Given the description of an element on the screen output the (x, y) to click on. 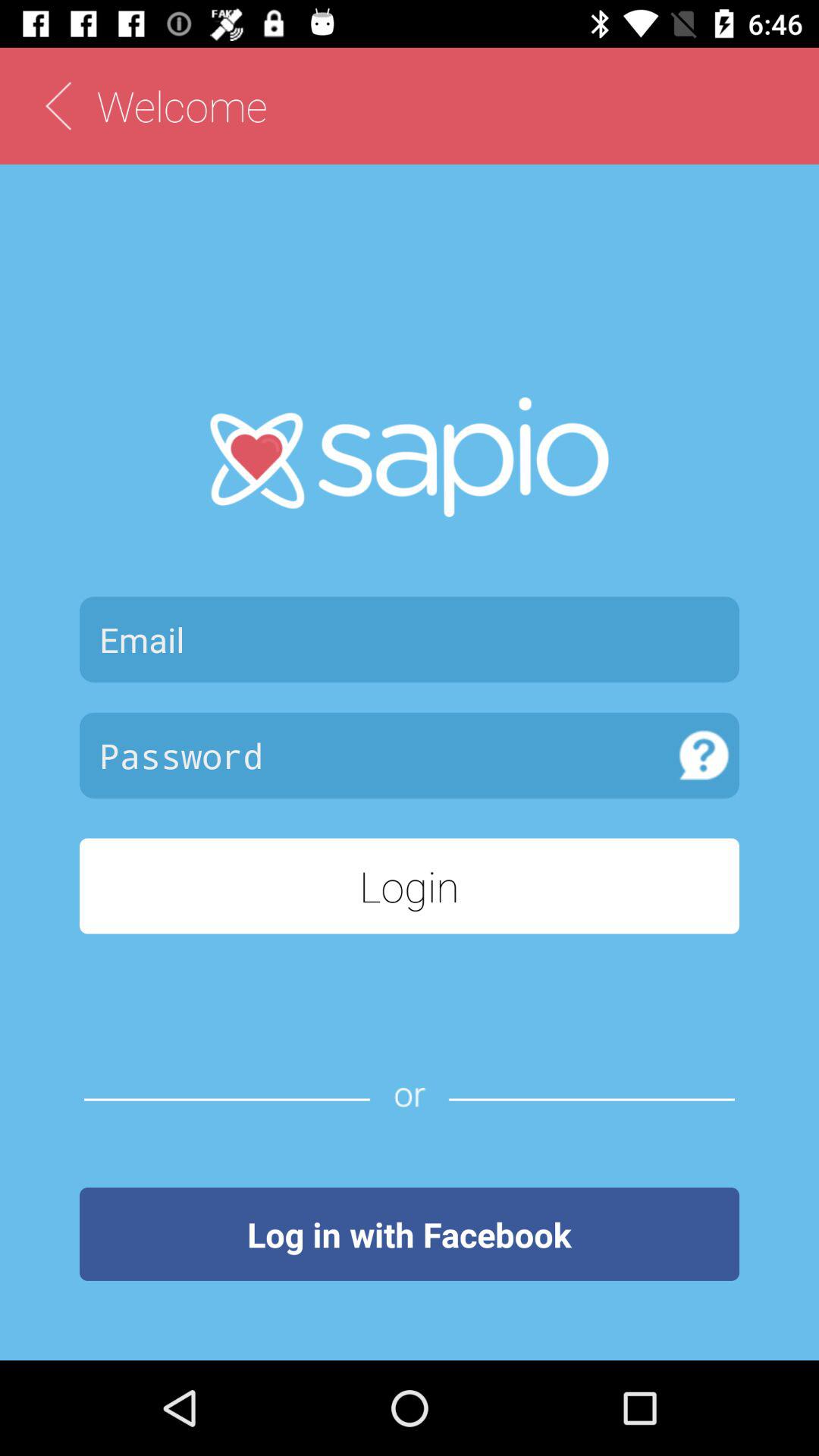
select the app next to the welcome item (57, 105)
